Given the description of an element on the screen output the (x, y) to click on. 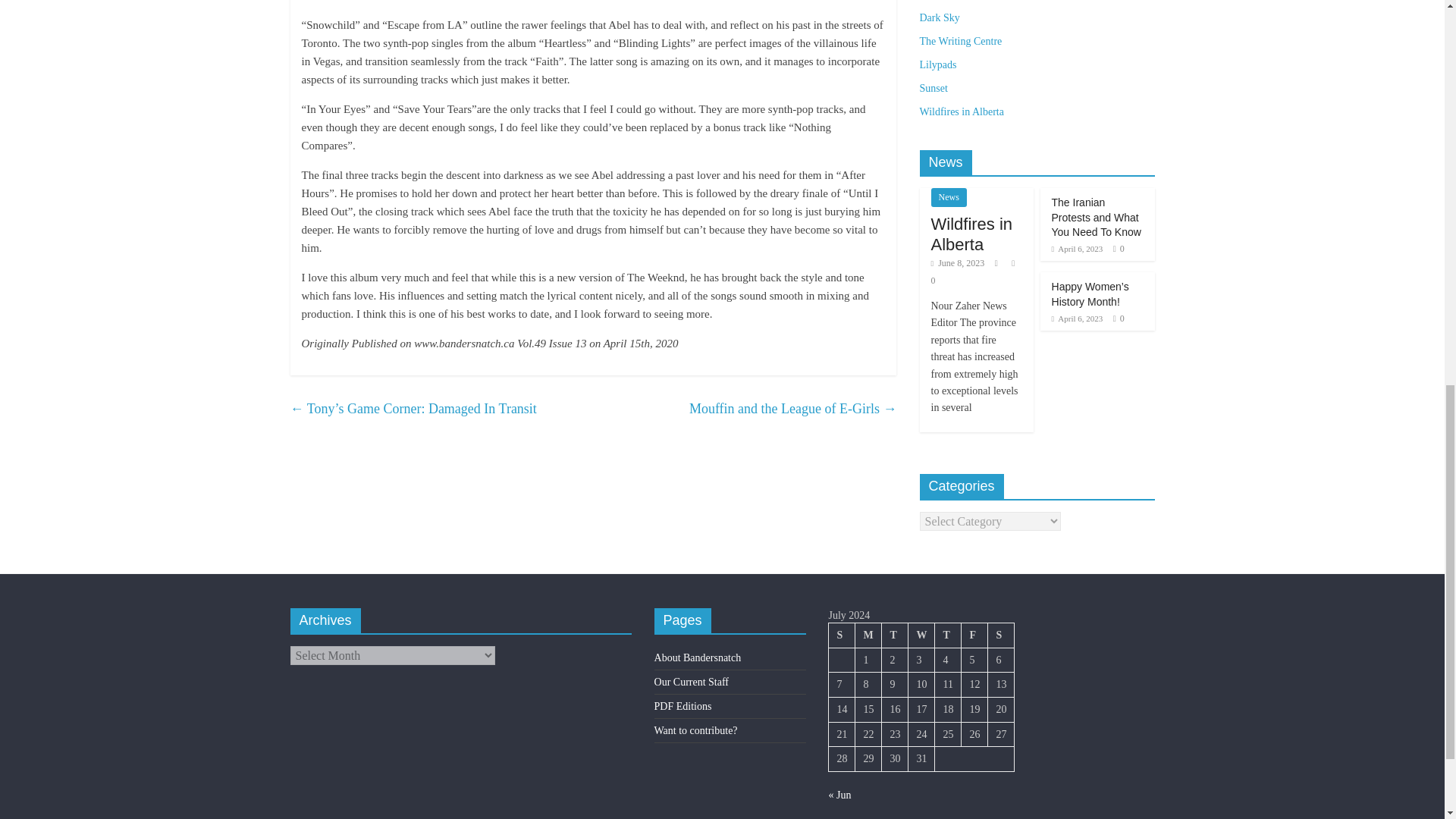
The Iranian Protests and What You Need To Know (1096, 217)
9:34 am (958, 262)
8:30 am (1077, 248)
8:30 am (1077, 317)
Wildfires in Alberta (972, 233)
